Given the description of an element on the screen output the (x, y) to click on. 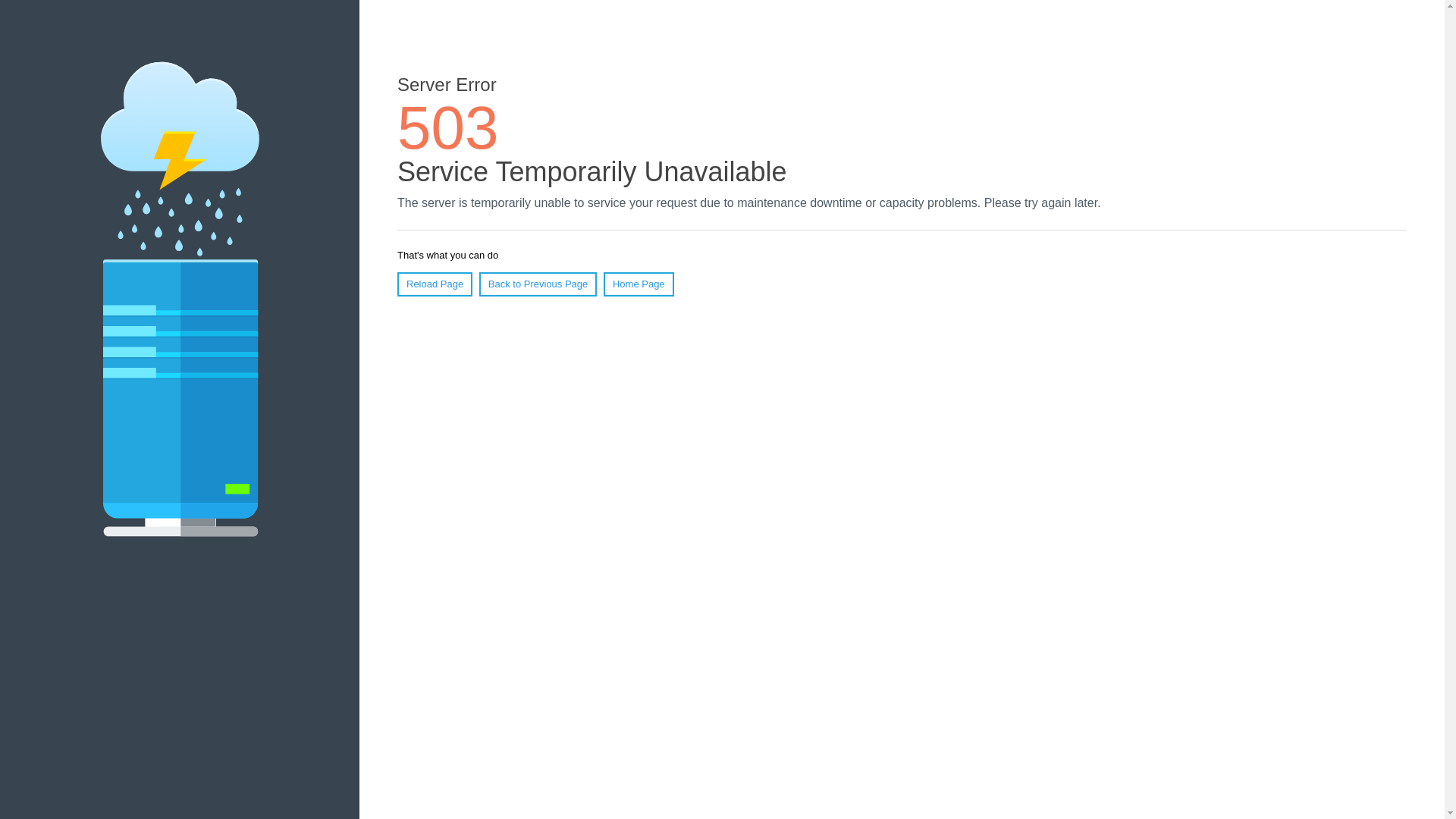
Home Page (639, 283)
Reload Page (434, 283)
Back to Previous Page (537, 283)
